Given the description of an element on the screen output the (x, y) to click on. 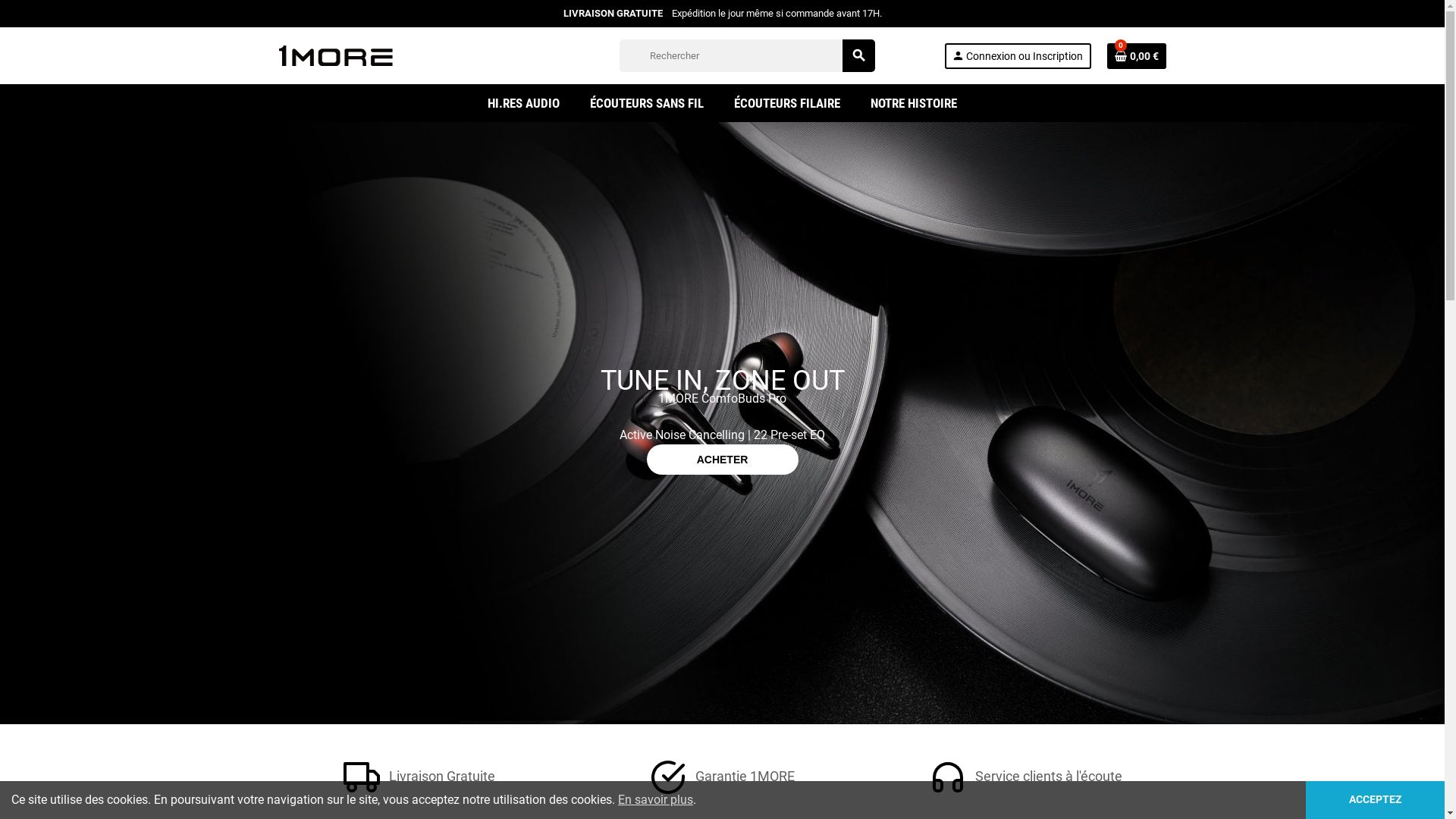
   Garantie 1MORE Element type: text (721, 777)
person
Connexion ou Inscription Element type: text (1017, 54)
En savoir plus Element type: text (655, 799)
1MORE Element type: hover (335, 54)
HI.RES AUDIO Element type: text (523, 103)
ACHETER Element type: text (722, 459)
search Element type: text (858, 55)
NOTRE HISTOIRE Element type: text (913, 103)
   Livraison Gratuite Element type: text (418, 777)
One more Element type: hover (722, 423)
